Given the description of an element on the screen output the (x, y) to click on. 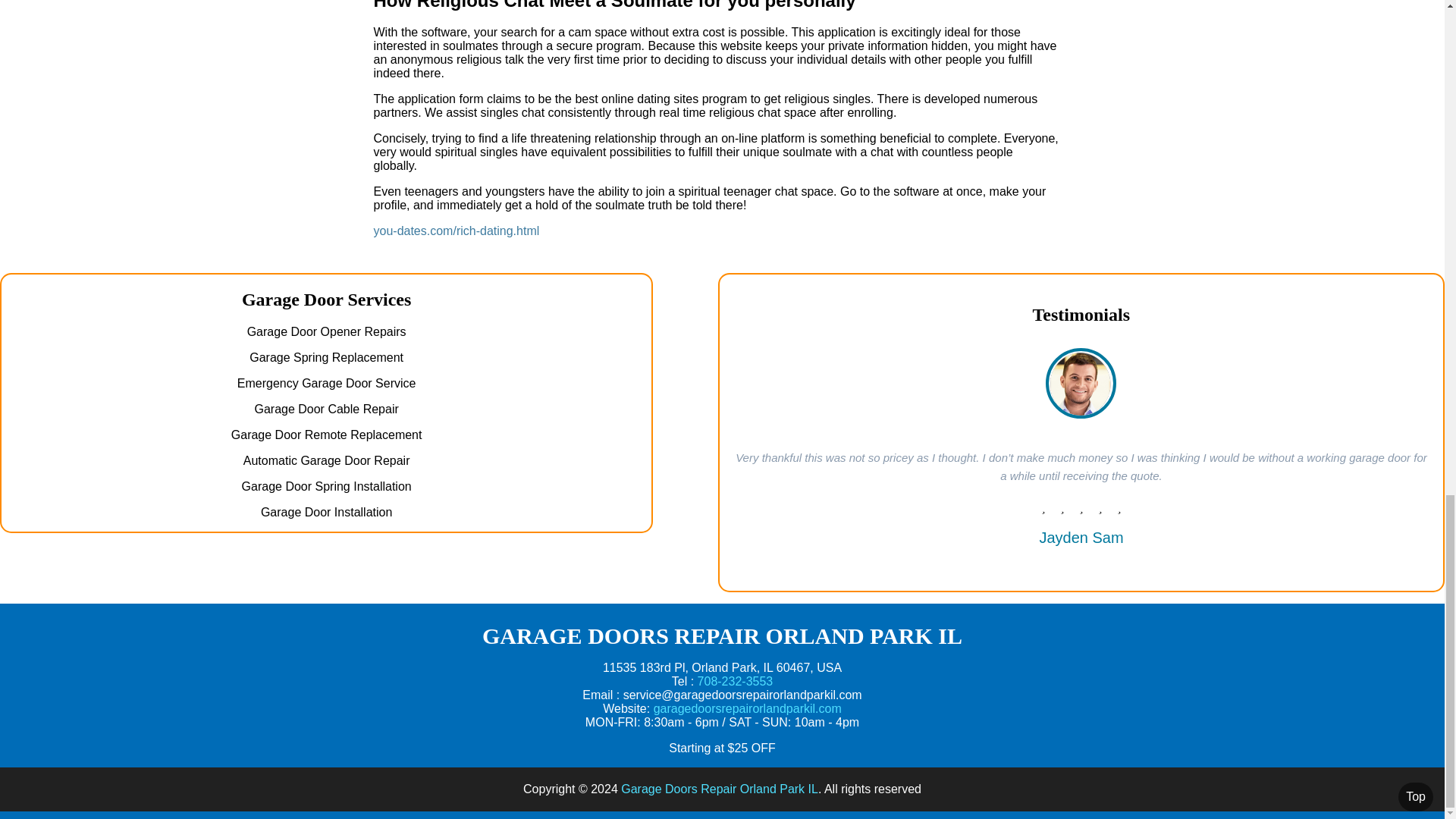
Garage Doors Repair Orland Park IL (719, 788)
708-232-3553 (735, 680)
garagedoorsrepairorlandparkil.com (747, 707)
